Given the description of an element on the screen output the (x, y) to click on. 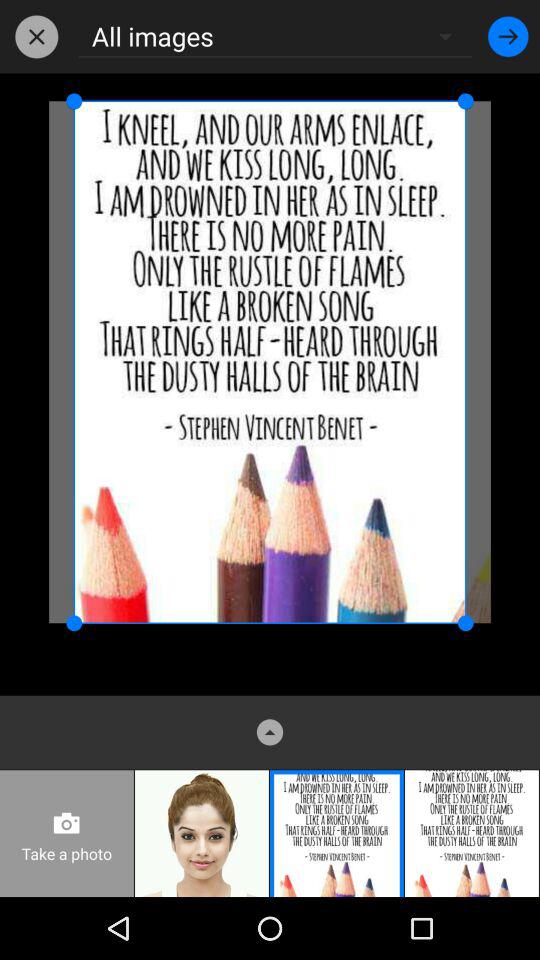
click item at the top right corner (508, 36)
